Given the description of an element on the screen output the (x, y) to click on. 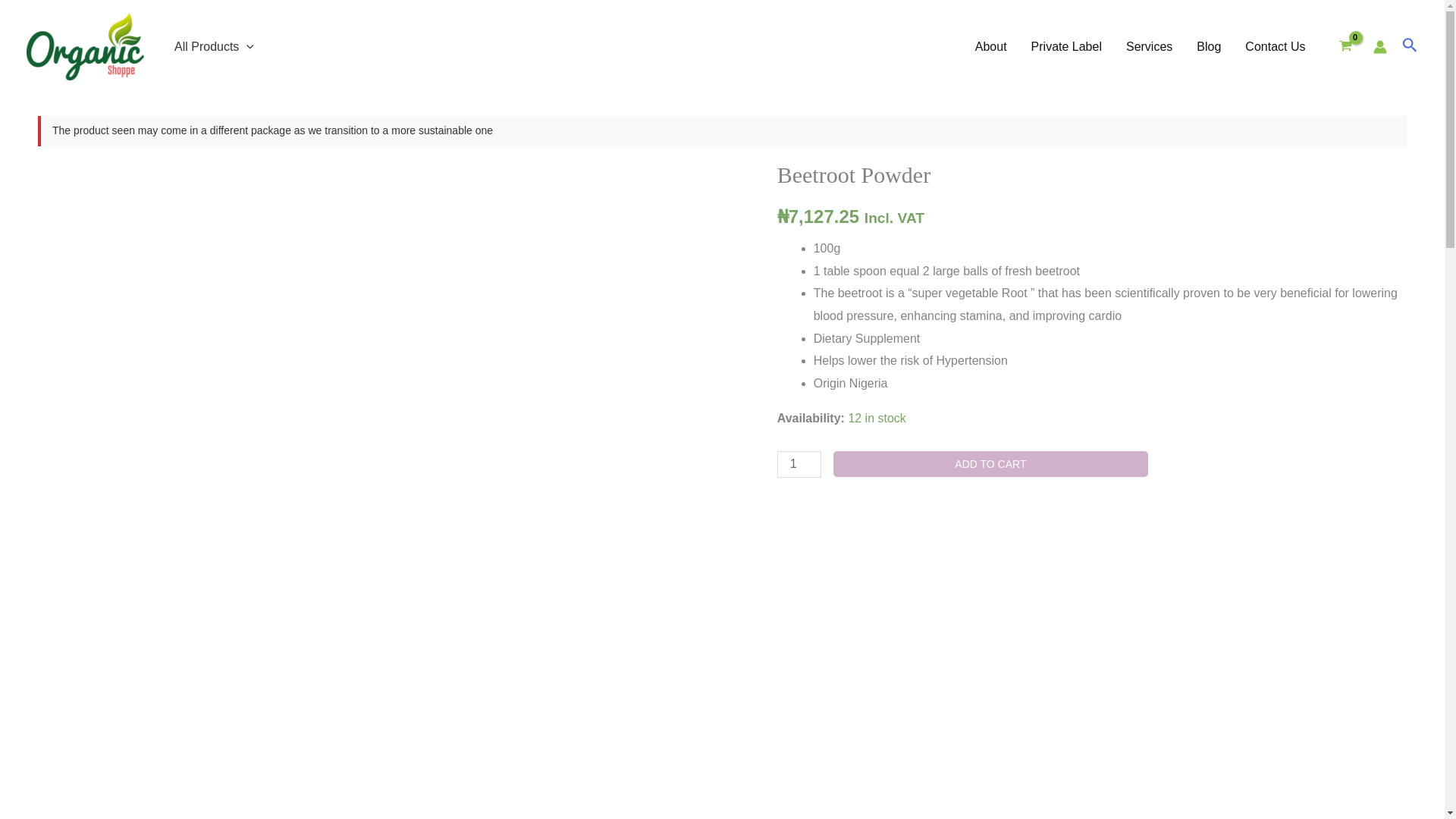
All Products (213, 46)
1 (799, 464)
Private Label (1066, 46)
Blog (1209, 46)
About (990, 46)
Contact Us (1275, 46)
Services (1149, 46)
